Given the description of an element on the screen output the (x, y) to click on. 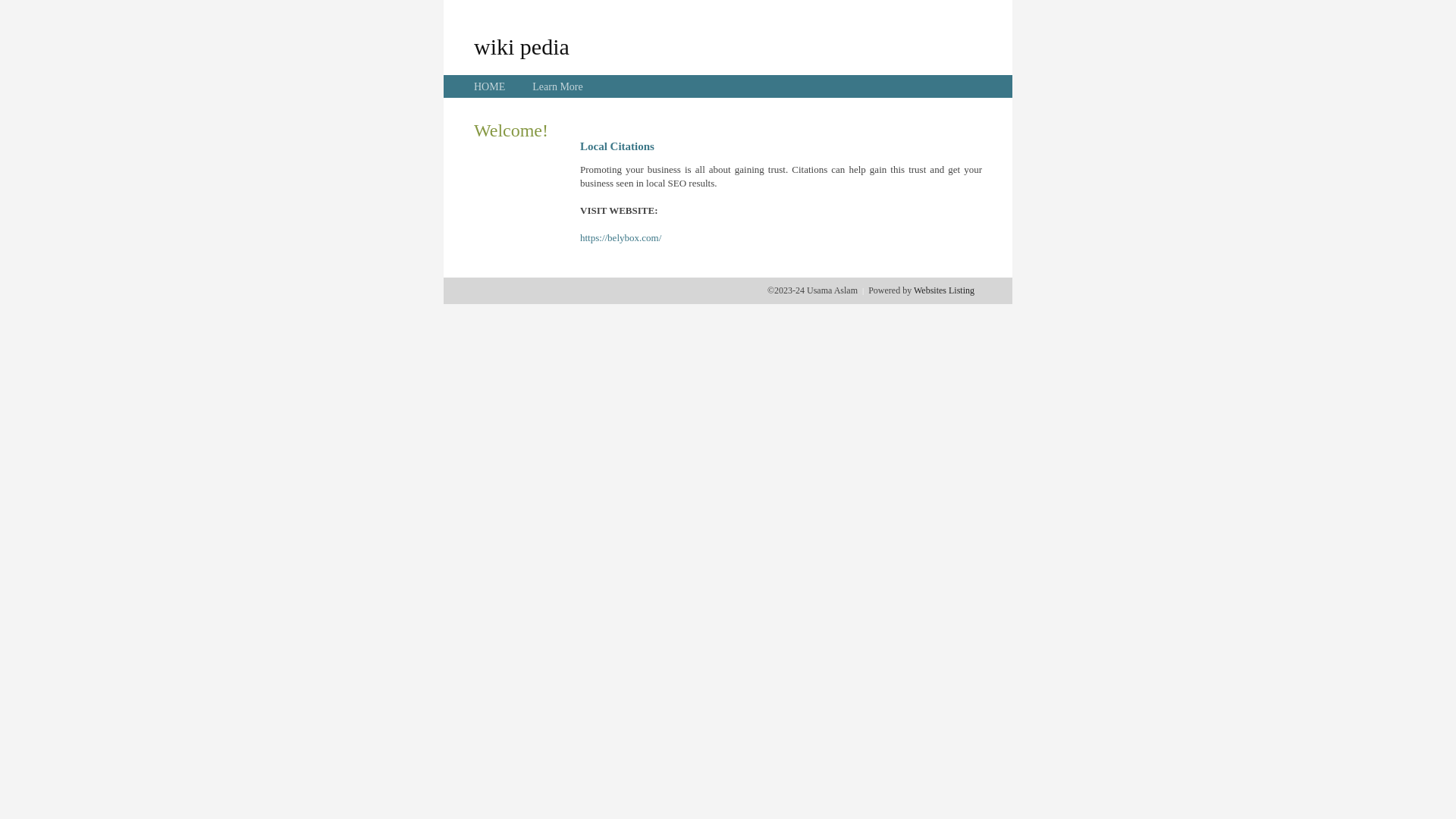
Websites Listing Element type: text (943, 290)
HOME Element type: text (489, 86)
wiki pedia Element type: text (521, 46)
https://belybox.com/ Element type: text (620, 237)
Learn More Element type: text (557, 86)
